Given the description of an element on the screen output the (x, y) to click on. 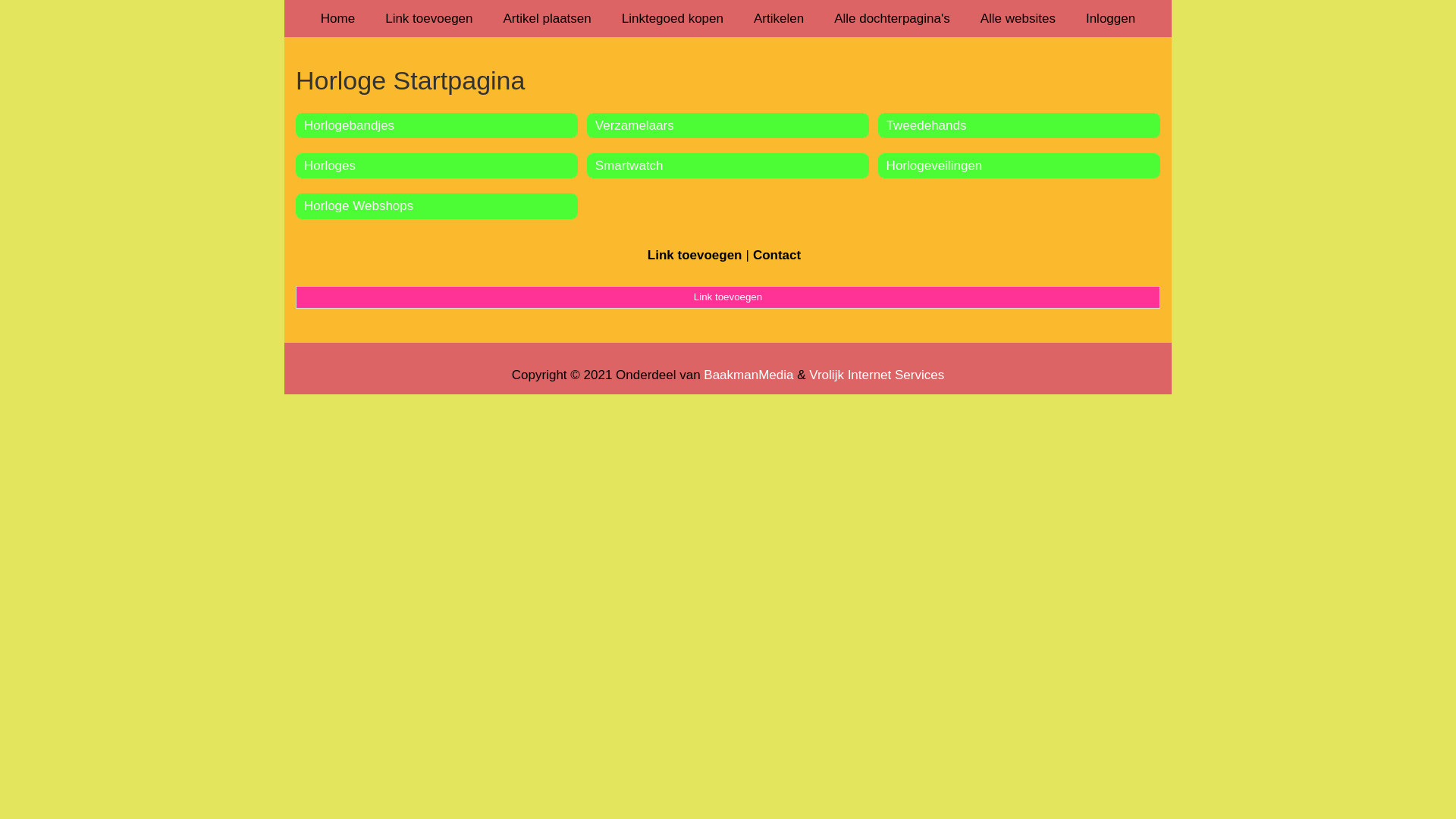
Tweedehands Element type: text (926, 125)
Link toevoegen Element type: text (428, 18)
Vrolijk Internet Services Element type: text (876, 374)
Horloge Webshops Element type: text (358, 205)
Alle dochterpagina's Element type: text (892, 18)
Inloggen Element type: text (1110, 18)
Home Element type: text (337, 18)
Alle websites Element type: text (1017, 18)
Link toevoegen Element type: text (727, 296)
BaakmanMedia Element type: text (748, 374)
Artikel plaatsen Element type: text (547, 18)
Verzamelaars Element type: text (634, 125)
Artikelen Element type: text (778, 18)
Horlogeveilingen Element type: text (934, 165)
Link toevoegen Element type: text (694, 254)
Linktegoed kopen Element type: text (672, 18)
Horlogebandjes Element type: text (349, 125)
Horloge Startpagina Element type: text (727, 80)
Horloges Element type: text (329, 165)
Contact Element type: text (776, 254)
Smartwatch Element type: text (629, 165)
